Given the description of an element on the screen output the (x, y) to click on. 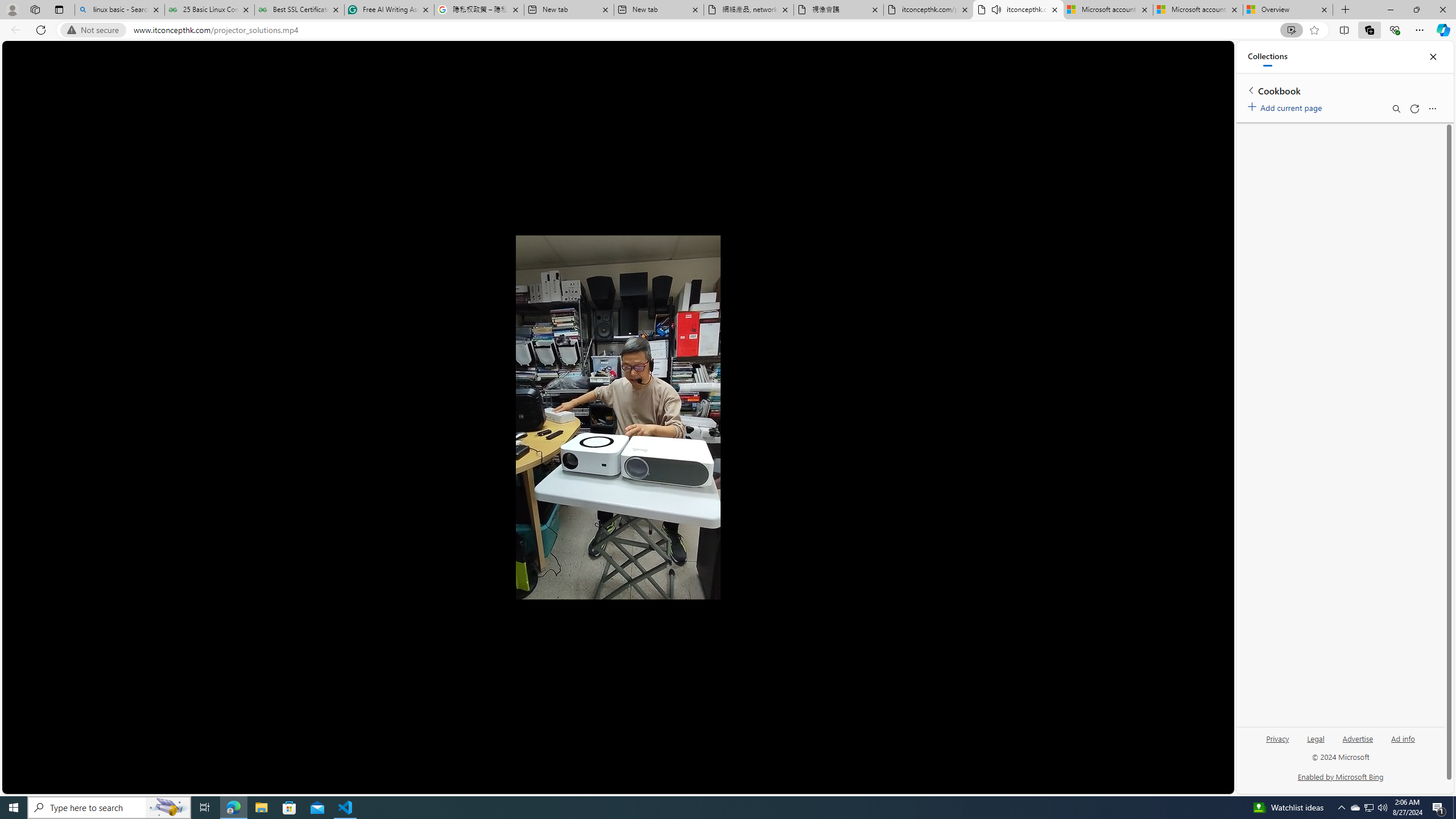
Mute tab (996, 8)
